Given the description of an element on the screen output the (x, y) to click on. 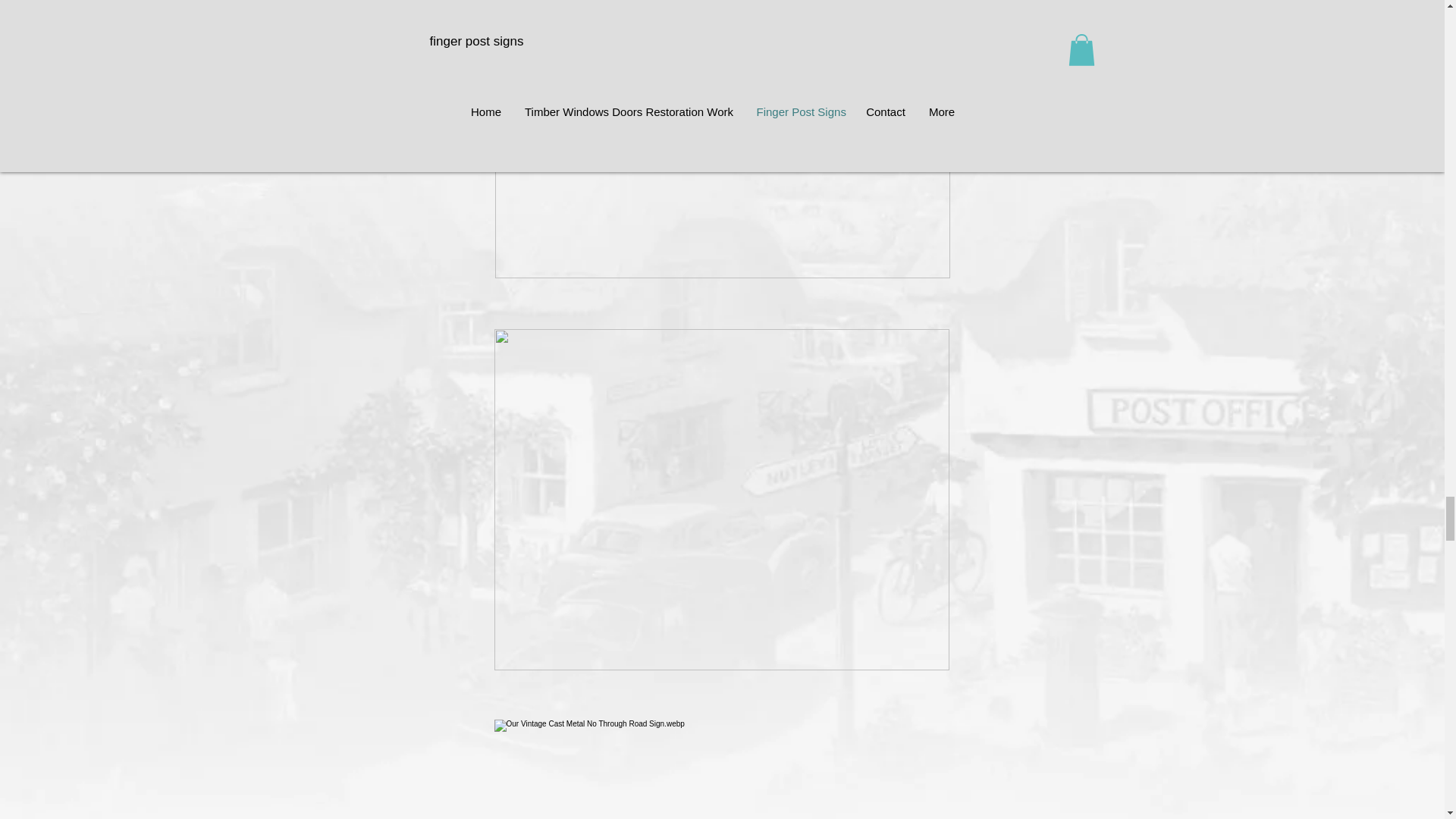
he Time Machine.jpg (722, 139)
